Given the description of an element on the screen output the (x, y) to click on. 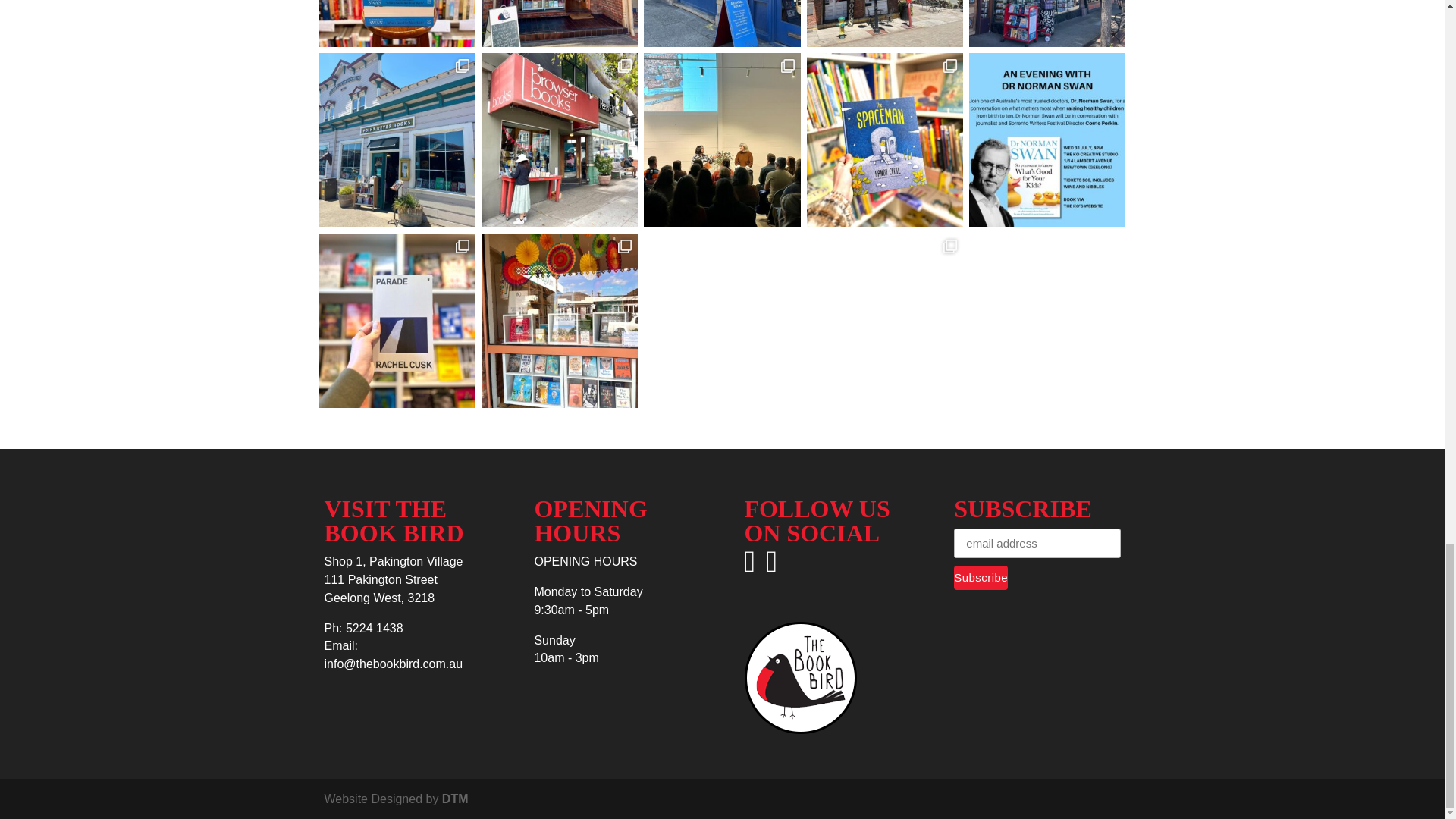
Only a few more days to book your seat at our even (396, 23)
Subscribe (980, 577)
A quick flight to Seattle in order to see the emer (721, 23)
Next stop on our Californian bookshop tour is Poin (396, 140)
Geelong Website Design (455, 798)
